Given the description of an element on the screen output the (x, y) to click on. 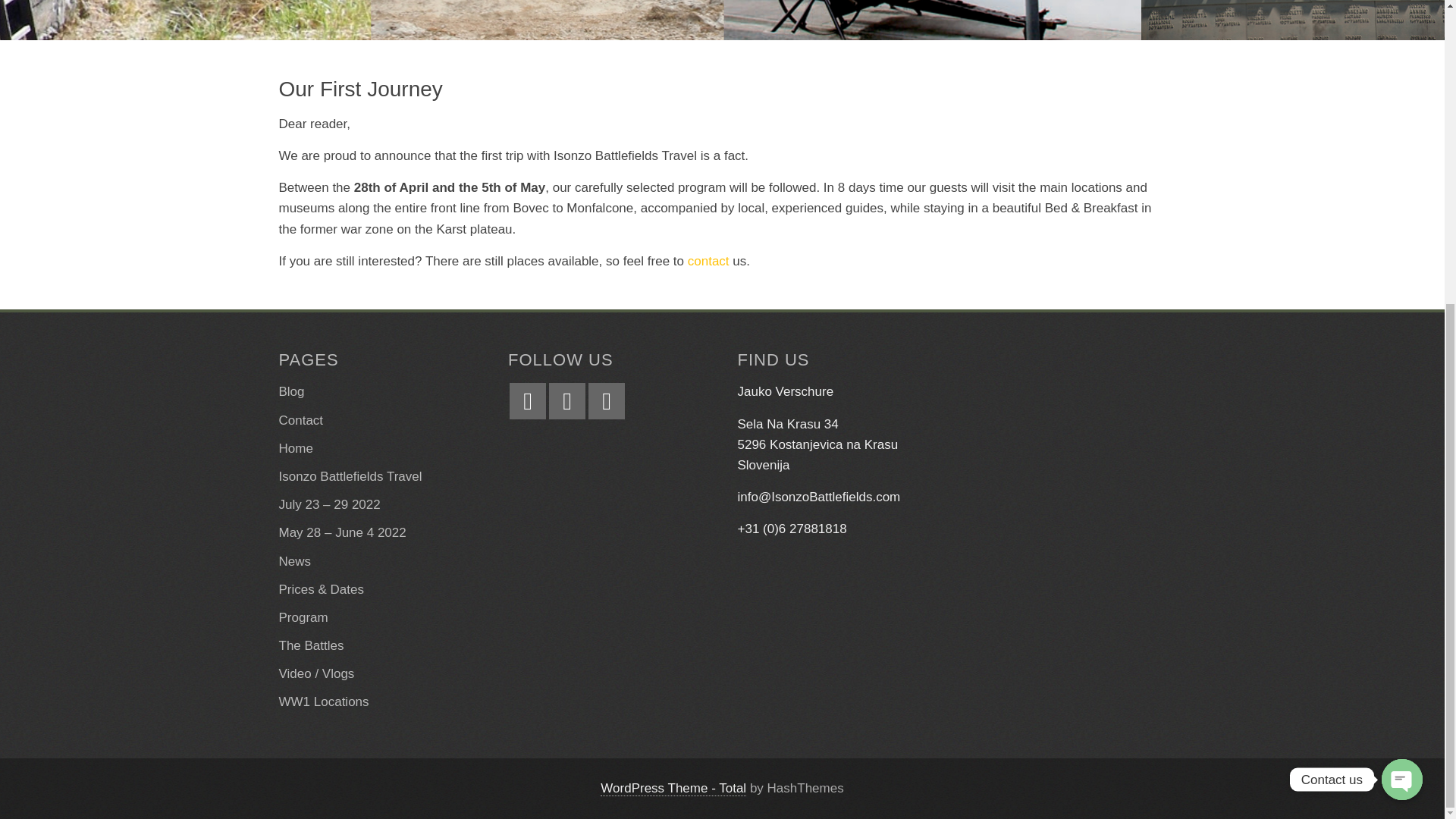
Isonzo Battlefields Travel (350, 476)
contact (708, 260)
WW1 Locations (324, 701)
Program (304, 617)
Whatsapp (606, 401)
Instagram (566, 401)
The Battles (311, 645)
Home (296, 448)
Facebook (527, 401)
Contact (301, 420)
